Given the description of an element on the screen output the (x, y) to click on. 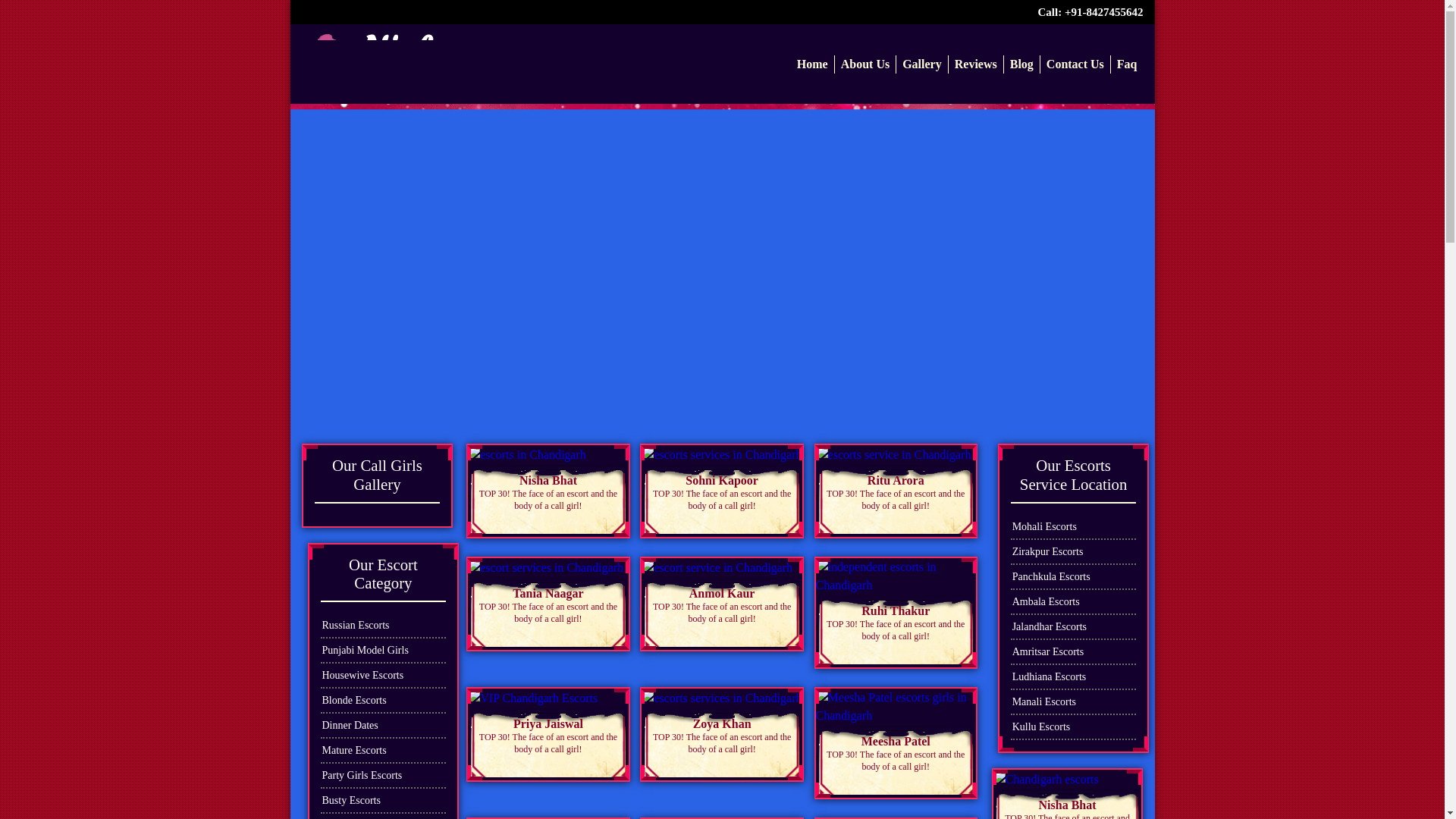
Home (812, 63)
Mature Escorts (382, 750)
Ambala Escorts (1073, 602)
Mohali Escorts (1073, 526)
Amritsar Escorts (1073, 652)
Housewive Escorts (382, 675)
